Given the description of an element on the screen output the (x, y) to click on. 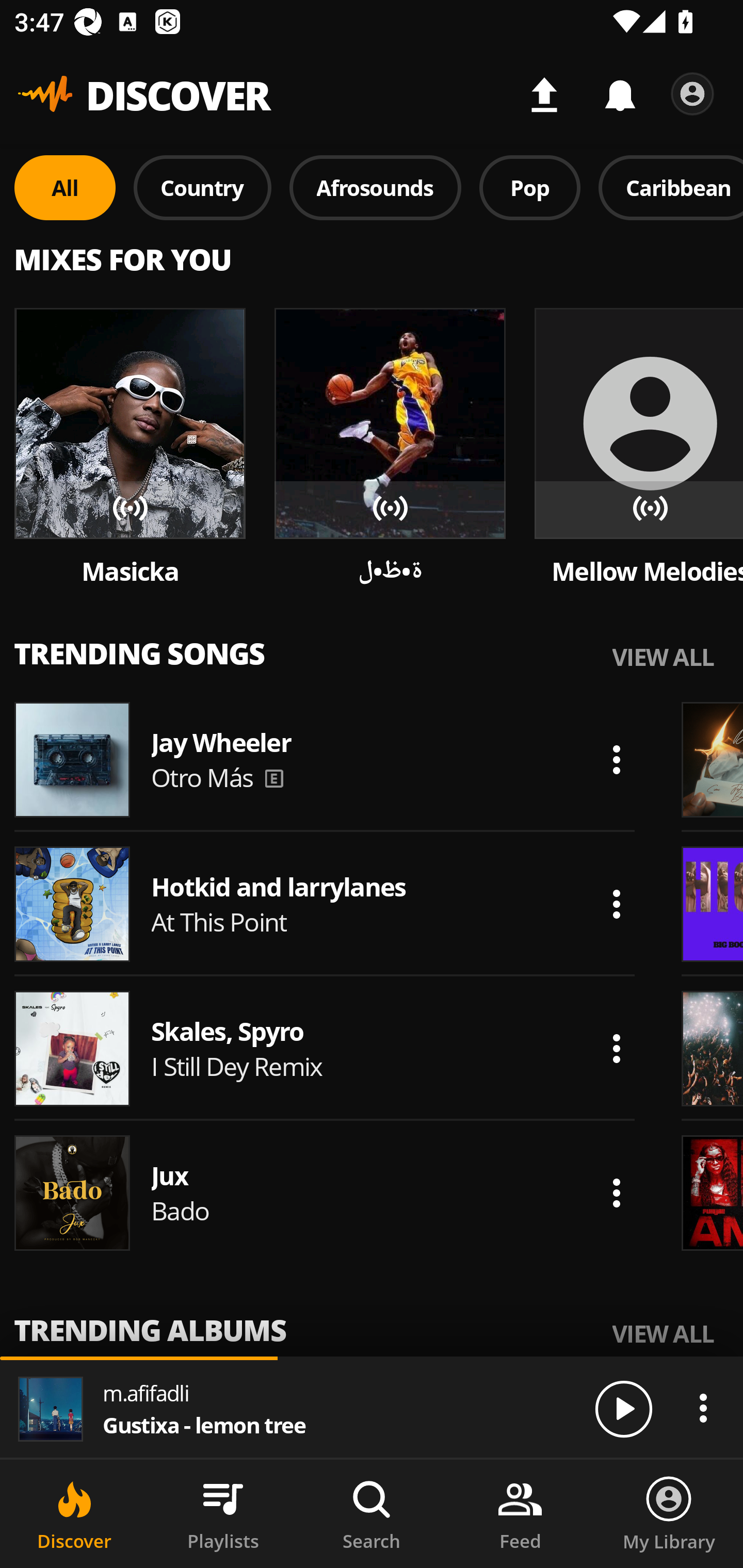
Settings (692, 94)
All (64, 187)
Country (202, 187)
Afrosounds (375, 187)
Pop (529, 187)
Caribbean (670, 187)
Song artwork Song artwork Song artwork Masicka (129, 447)
Song artwork Song artwork Song artwork ة•ظ•ل (389, 447)
VIEW ALL (663, 655)
Song artwork Jay Wheeler Otro Más    Actions (324, 759)
Actions (616, 759)
Actions (616, 903)
Actions (616, 1048)
Song artwork Jux Bado Actions (324, 1193)
Actions (616, 1193)
VIEW ALL (663, 1333)
Actions (703, 1407)
Play/Pause (623, 1408)
Discover (74, 1513)
Playlists (222, 1513)
Search (371, 1513)
Feed (519, 1513)
My Library (668, 1513)
